Given the description of an element on the screen output the (x, y) to click on. 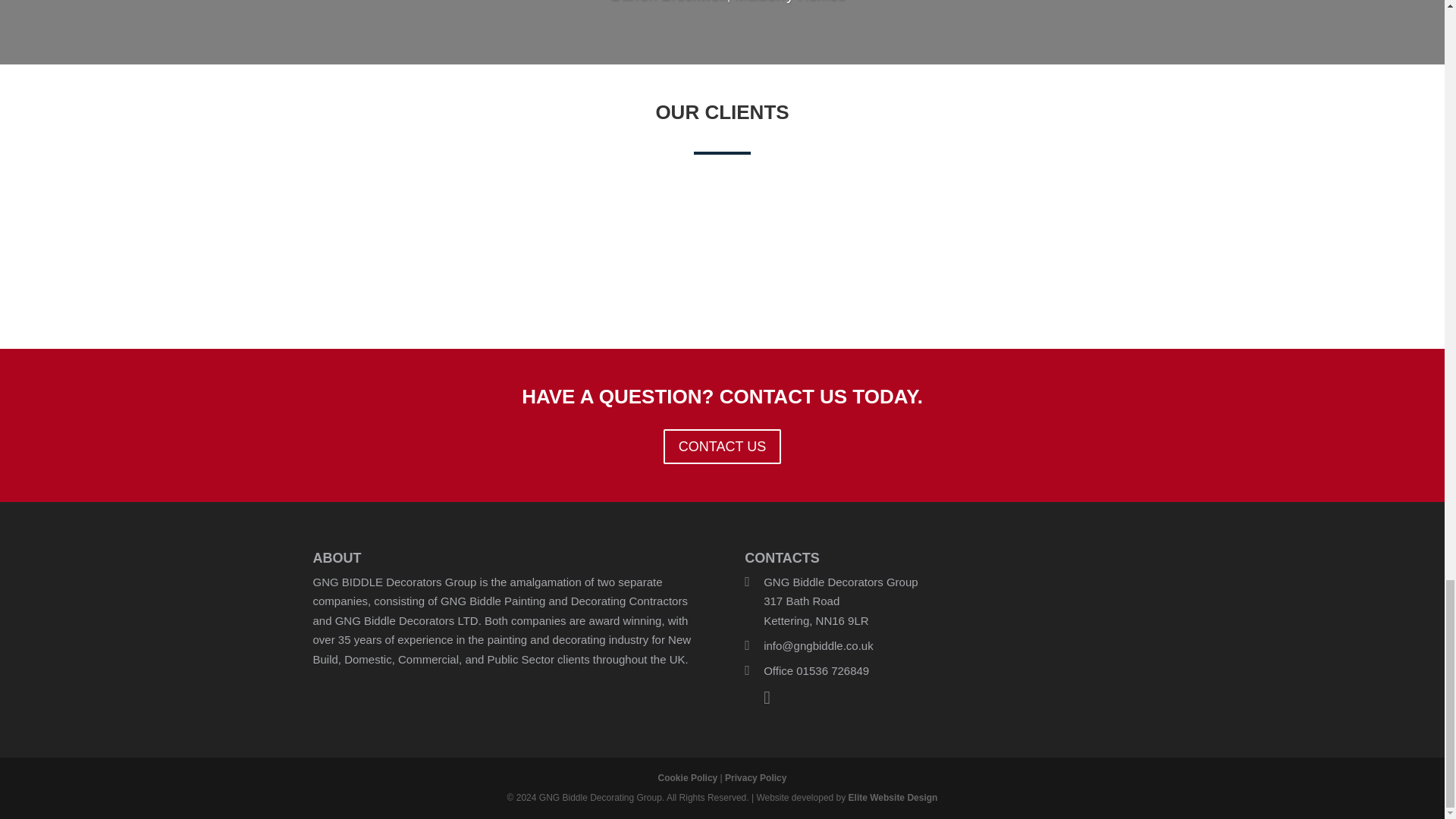
Elite Website Design (892, 796)
Cookie Policy (687, 777)
Privacy Policy (755, 777)
CONTACT US (721, 446)
